Given the description of an element on the screen output the (x, y) to click on. 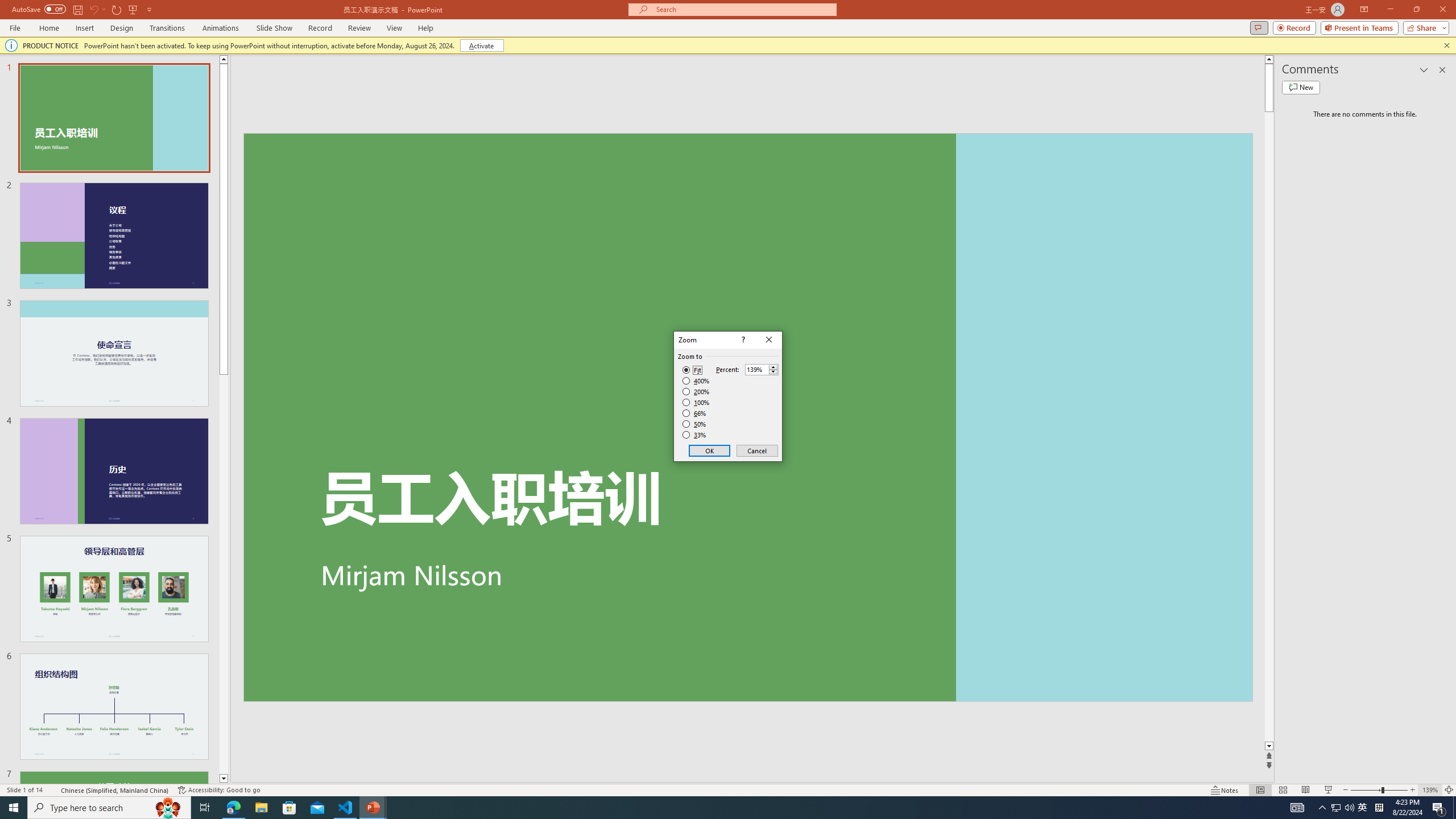
Microsoft Edge - 1 running window (233, 807)
Record (320, 28)
Redo (117, 9)
File Explorer (261, 807)
Notification Chevron (1322, 807)
More Options (103, 9)
Task View (204, 807)
Home (48, 28)
Reading View (1305, 790)
Record (1294, 27)
Running applications (707, 807)
Slide Show (273, 28)
Show desktop (1454, 807)
AutoSave (38, 9)
